Given the description of an element on the screen output the (x, y) to click on. 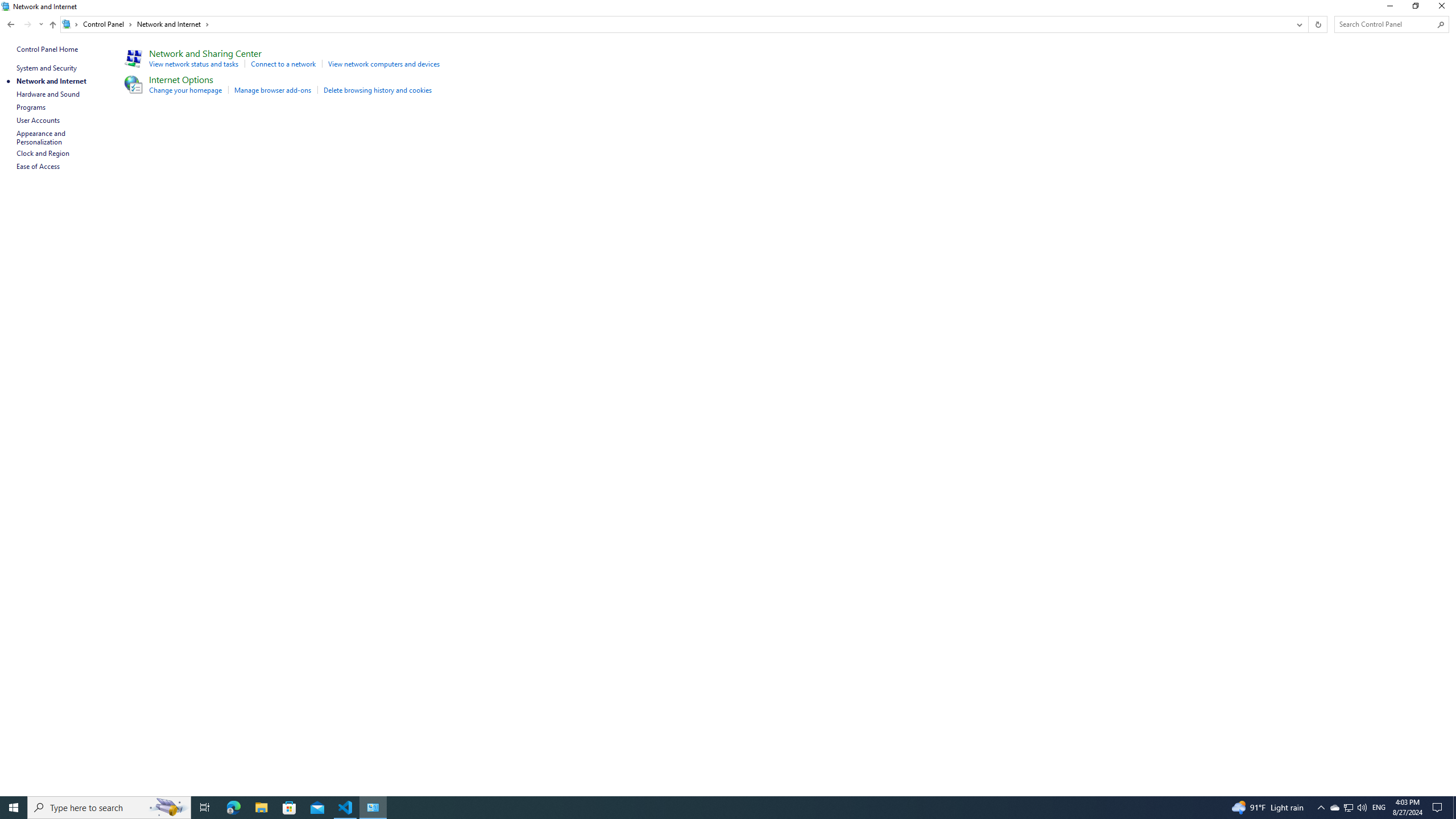
Network and Internet (173, 23)
Back to System and Security (Alt + Left Arrow) (10, 23)
Control Panel - 1 running window (373, 807)
Change your homepage (185, 89)
Navigation buttons (24, 23)
All locations (70, 23)
User Accounts (38, 120)
Control Panel (107, 23)
Control Panel Home (47, 49)
Appearance and Personalization (42, 137)
Delete browsing history and cookies (376, 89)
